Given the description of an element on the screen output the (x, y) to click on. 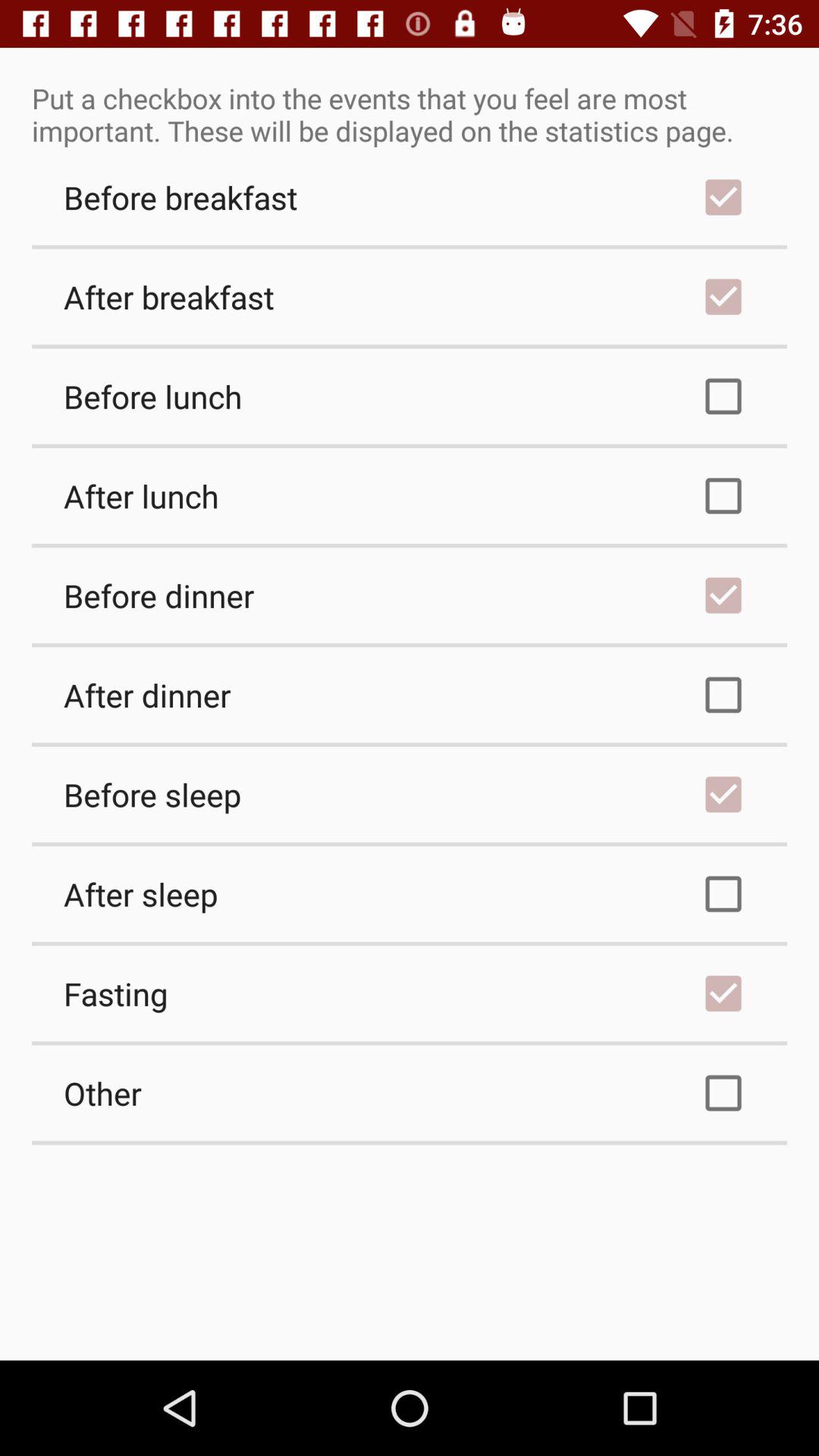
select the icon below the before dinner (409, 694)
